Given the description of an element on the screen output the (x, y) to click on. 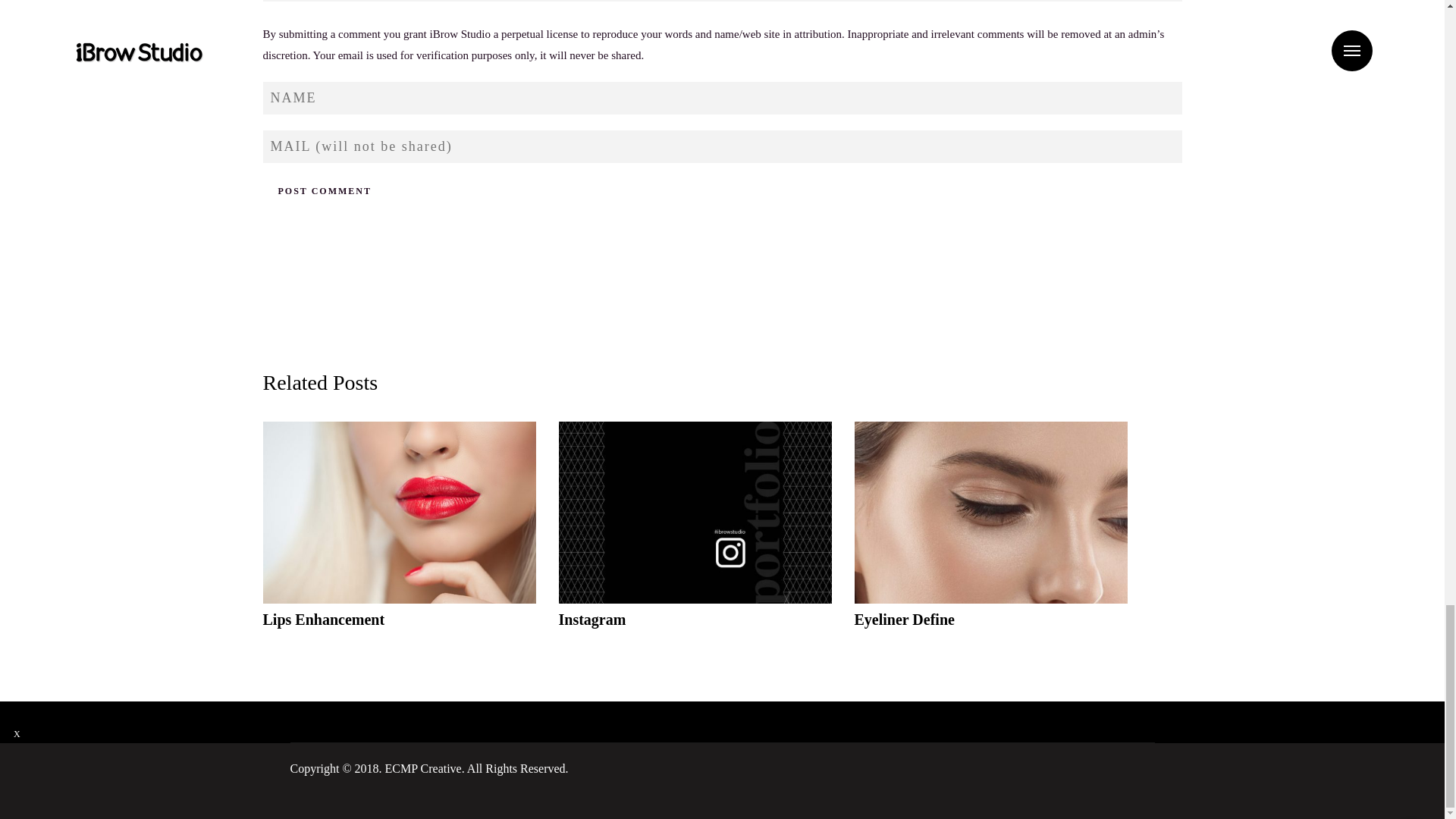
Eyebrow Design (398, 534)
Post Comment (323, 191)
Lips Enhancement (989, 534)
Post Comment (323, 191)
EPL (694, 534)
